Given the description of an element on the screen output the (x, y) to click on. 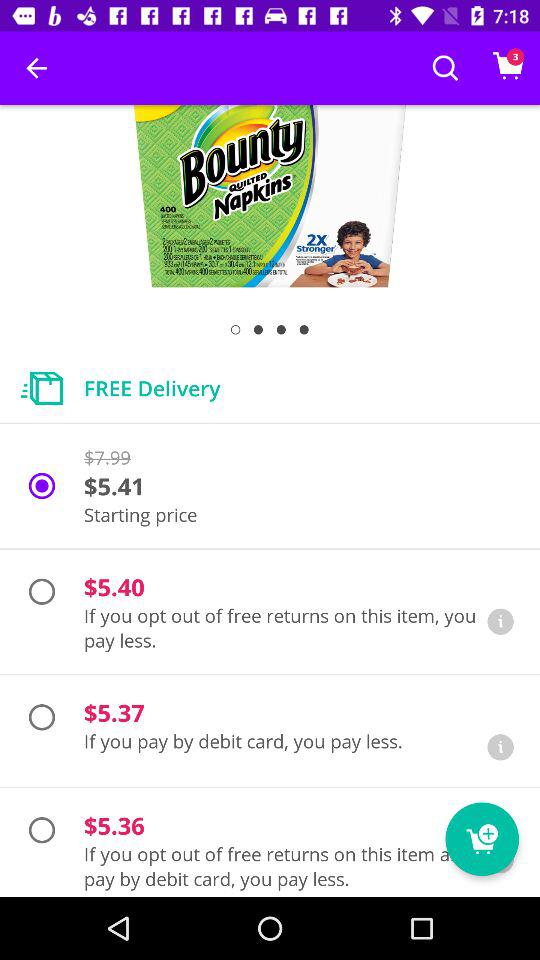
learn more (500, 621)
